Given the description of an element on the screen output the (x, y) to click on. 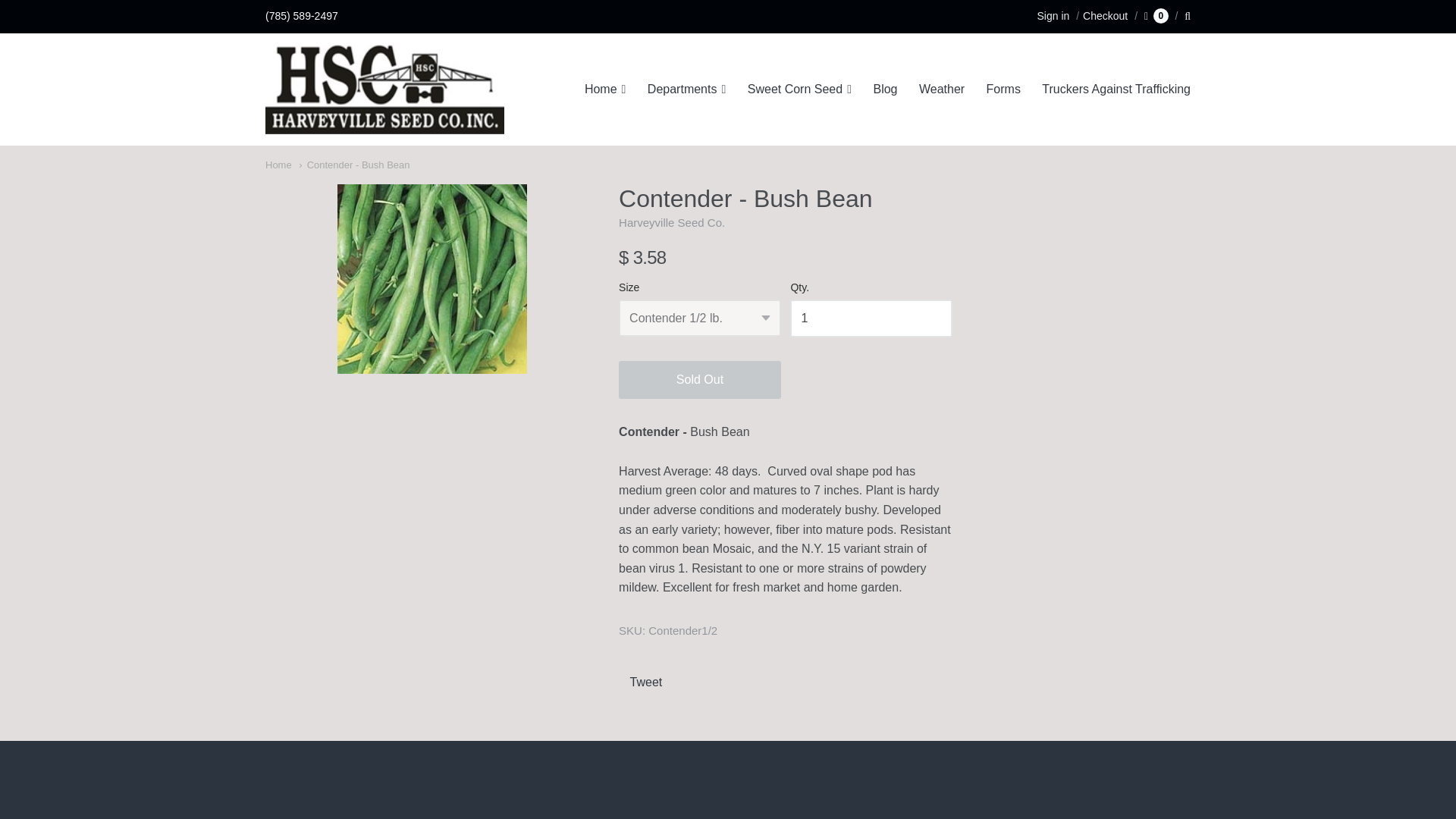
Sweet Corn Seed (799, 88)
Blog (884, 88)
Weather (942, 88)
Contender - Bush Bean (432, 278)
Harveyville Seed Co. (671, 222)
Checkout (1098, 15)
Contender - Bush Bean (353, 164)
Home (604, 88)
Sign in (1053, 15)
0 (1156, 15)
